Given the description of an element on the screen output the (x, y) to click on. 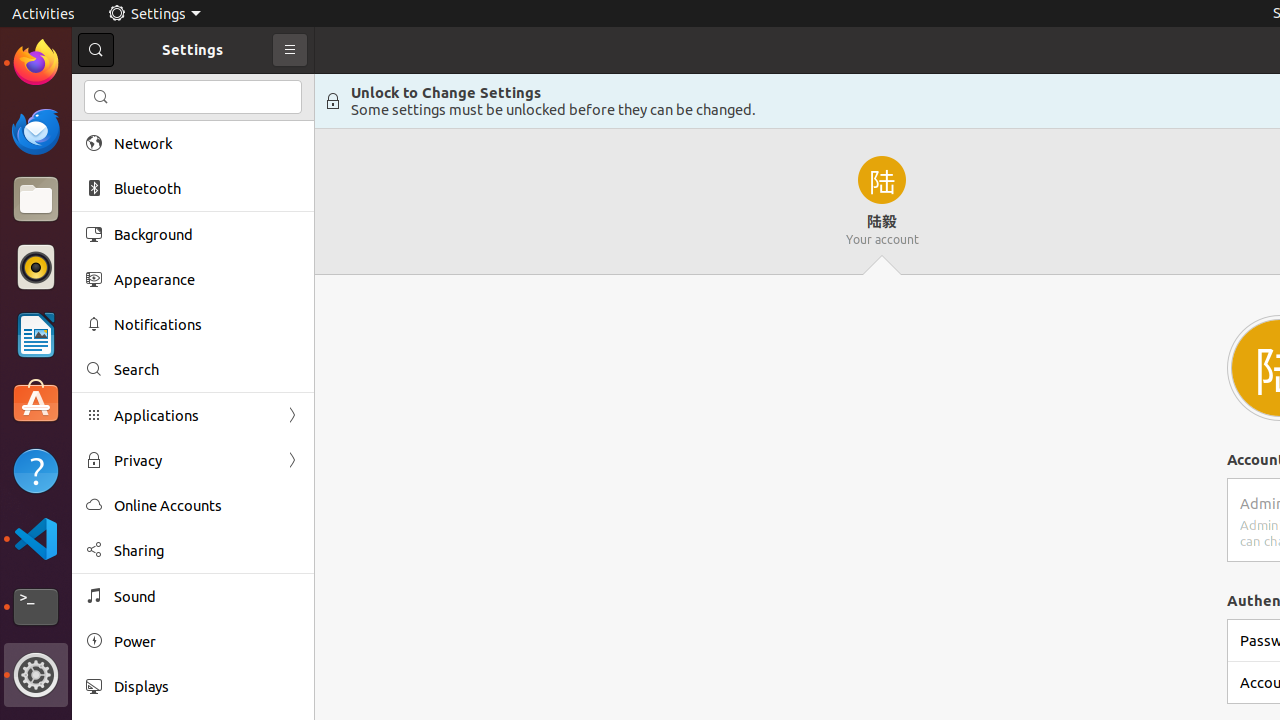
Sound Element type: label (207, 596)
Firefox Web Browser Element type: push-button (36, 63)
Search Element type: text (193, 97)
Settings Element type: menu (154, 13)
